Given the description of an element on the screen output the (x, y) to click on. 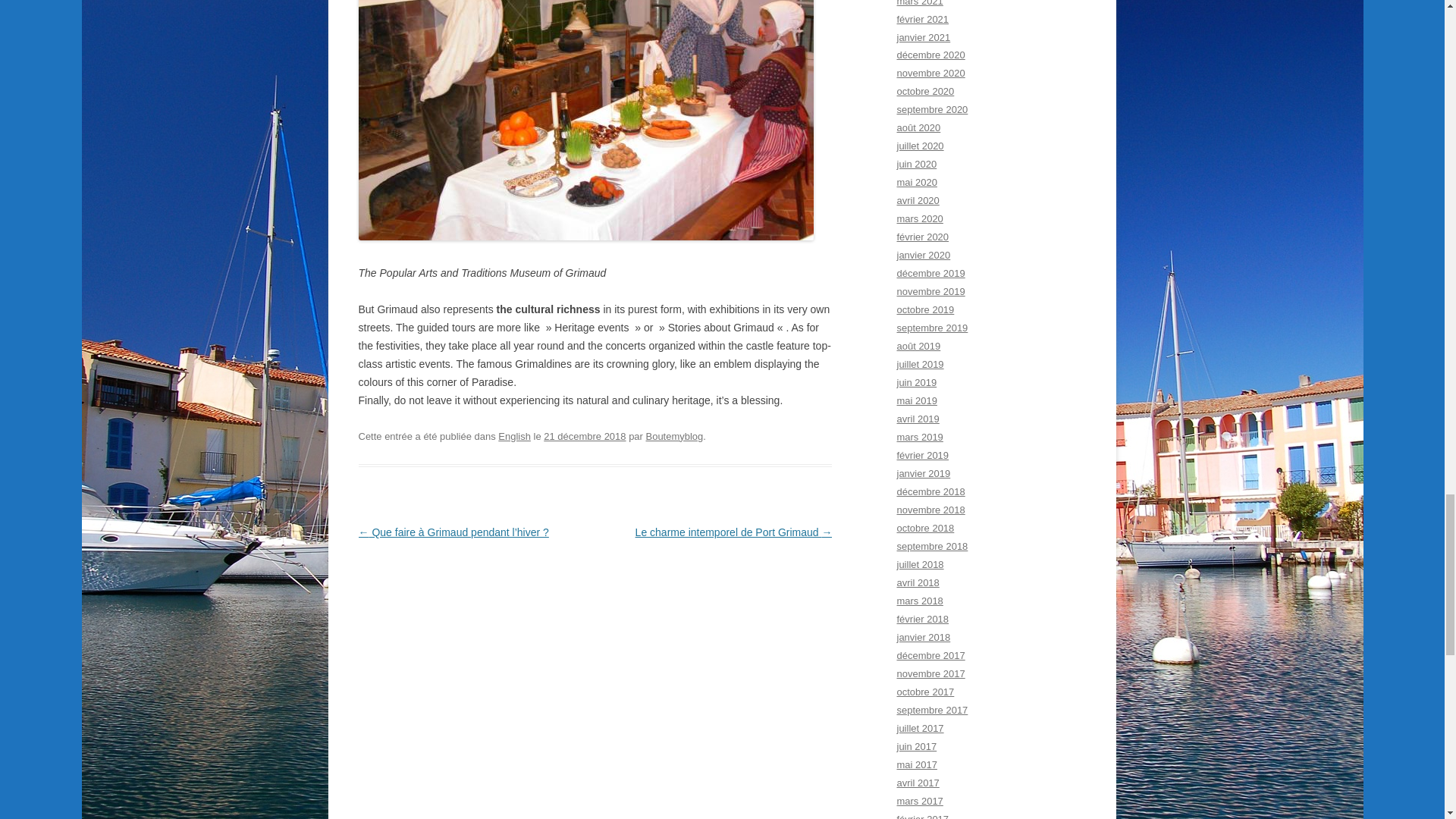
Boutemyblog (674, 436)
English (514, 436)
Afficher tous les articles par Boutemyblog (674, 436)
11 h 21 min (584, 436)
